Given the description of an element on the screen output the (x, y) to click on. 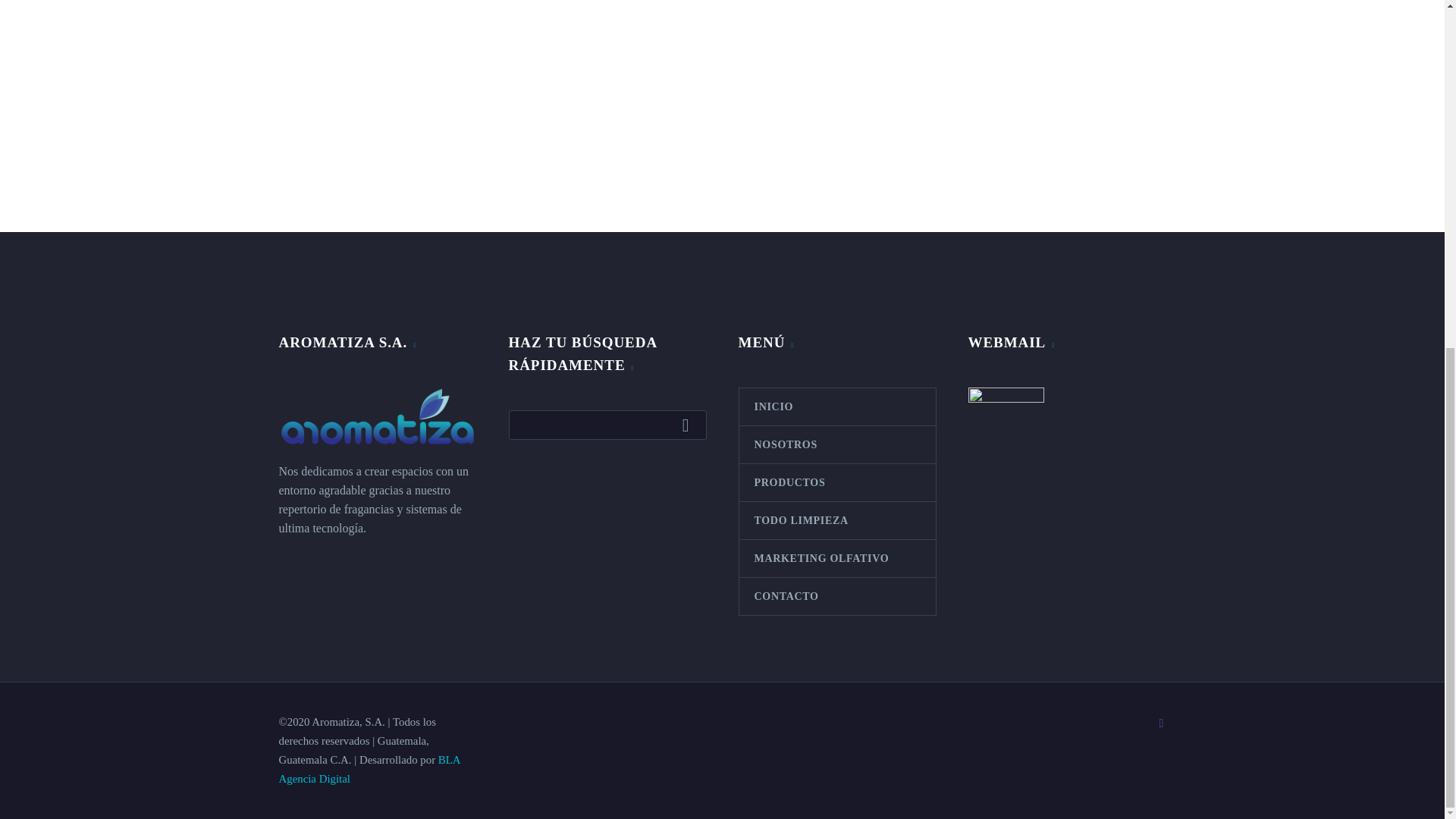
TODO LIMPIEZA (836, 520)
INICIO (836, 406)
MARKETING OLFATIVO (836, 558)
CONTACTO (836, 596)
Facebook (1161, 723)
BUSCAR (689, 424)
PRODUCTOS (836, 482)
NOSOTROS (836, 444)
BLA Agencia Digital (369, 768)
